Given the description of an element on the screen output the (x, y) to click on. 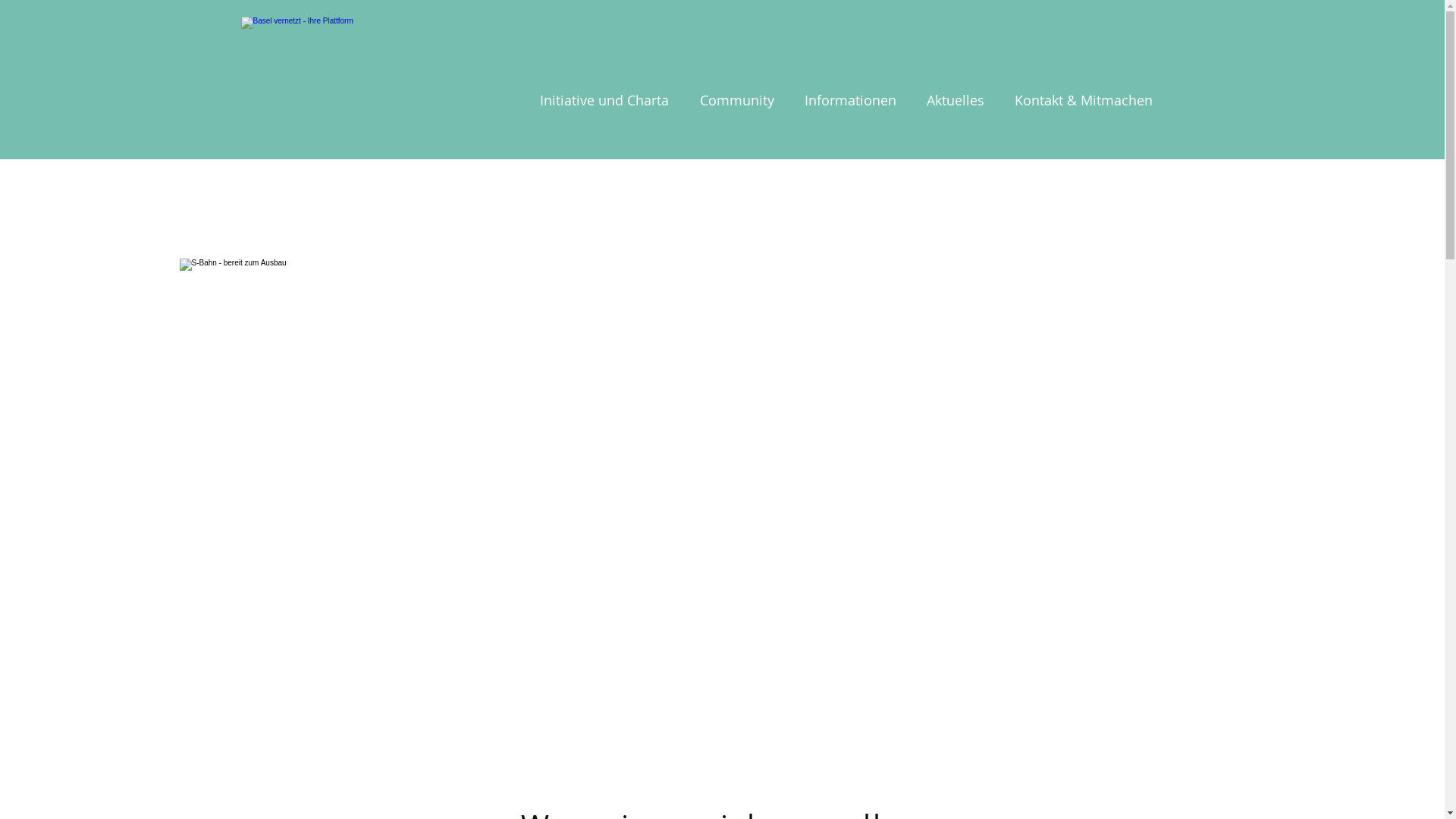
Informationen Element type: text (846, 100)
Initiative und Charta Element type: text (600, 100)
Basel vernetzt - Ihre Plattform Element type: hover (380, 78)
S-Bahn - bereit zum Ausbau Element type: hover (721, 471)
Community Element type: text (731, 100)
Aktuelles Element type: text (950, 100)
Kontakt & Mitmachen Element type: text (1078, 100)
